Given the description of an element on the screen output the (x, y) to click on. 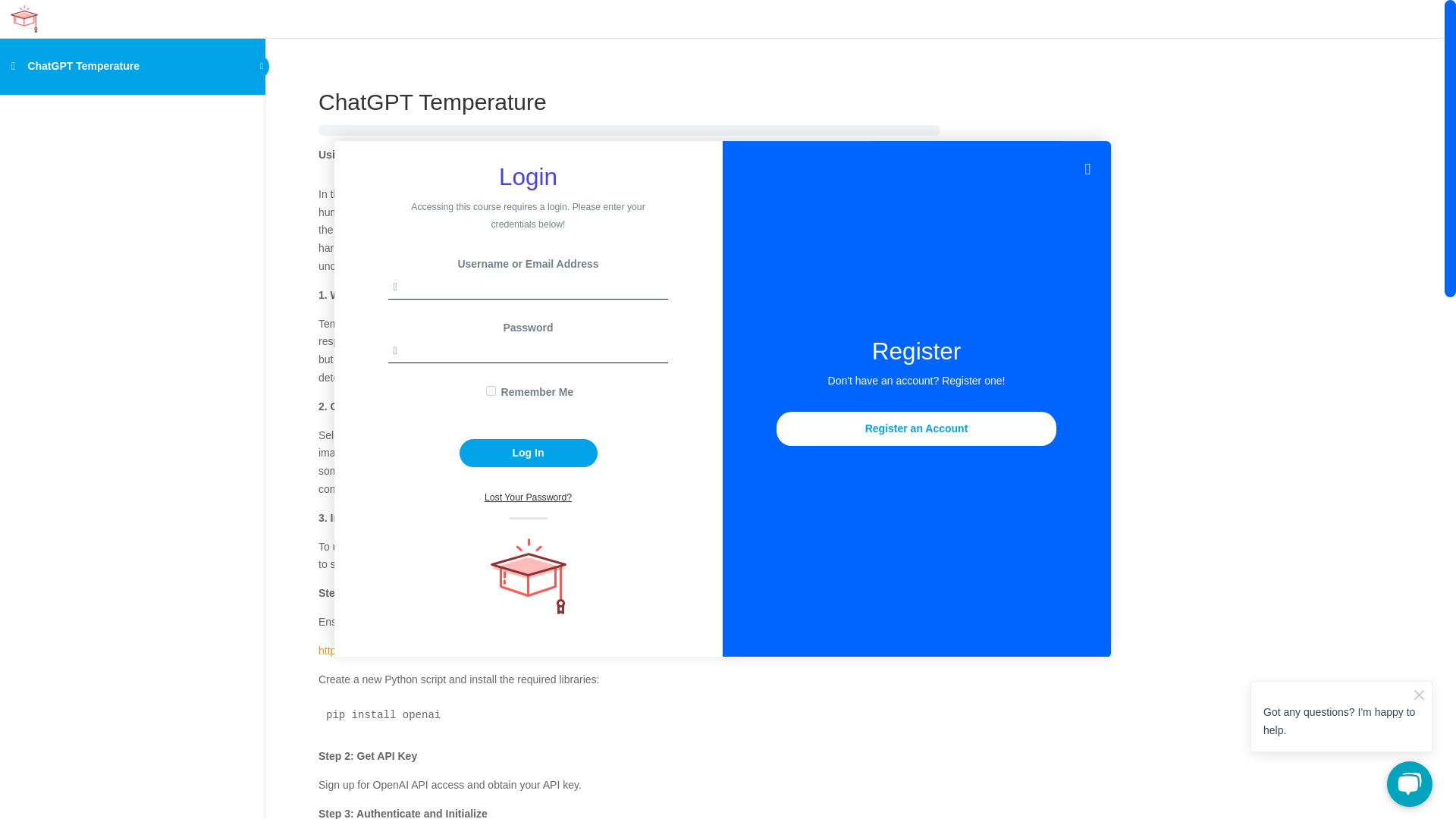
Log In (528, 452)
Lost Your Password? (528, 497)
forever (491, 390)
Log In (528, 452)
Register an Account (916, 428)
